Given the description of an element on the screen output the (x, y) to click on. 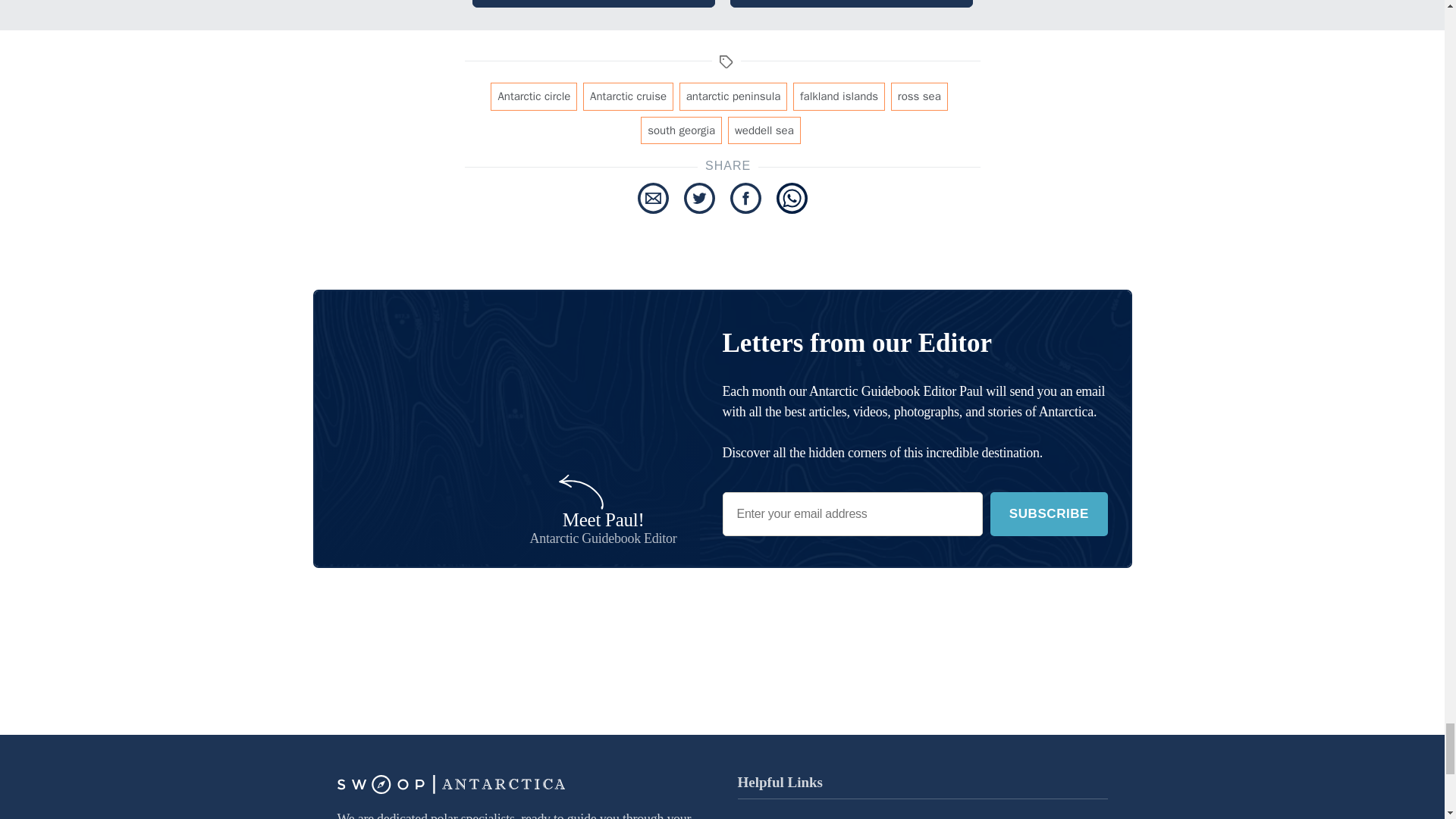
Share via Email (651, 197)
Share on whatsapp (791, 197)
Subscribe (1048, 514)
Share on Facebook (745, 197)
Share on Twitter (699, 197)
